Given the description of an element on the screen output the (x, y) to click on. 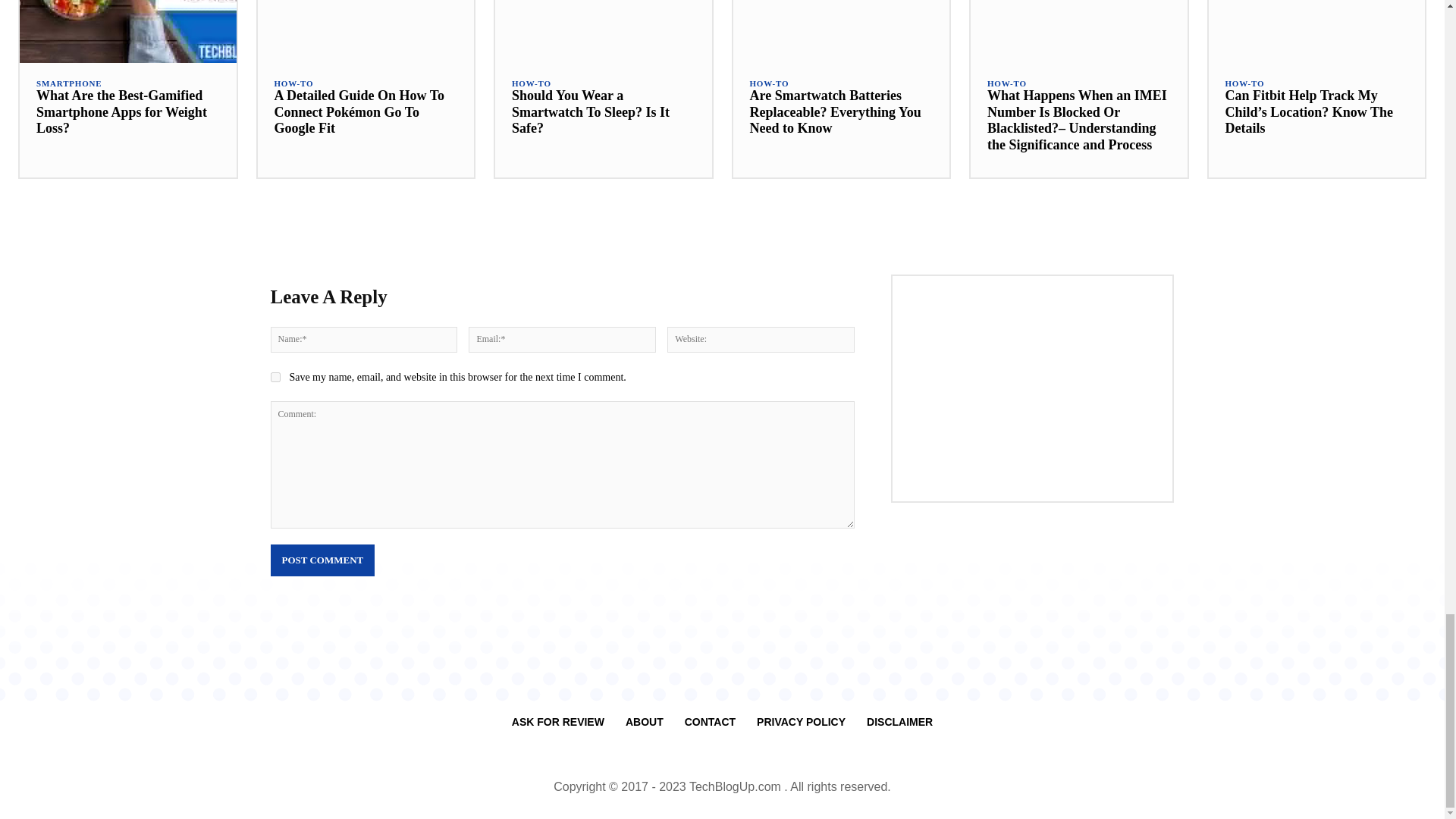
Post Comment (321, 560)
What Are the Best-Gamified Smartphone Apps for Weight Loss? (127, 31)
Should You Wear a Smartwatch To Sleep? Is It Safe? (603, 31)
yes (274, 377)
What Are the Best-Gamified Smartphone Apps for Weight Loss? (121, 111)
Should You Wear a Smartwatch To Sleep? Is It Safe? (590, 111)
